Given the description of an element on the screen output the (x, y) to click on. 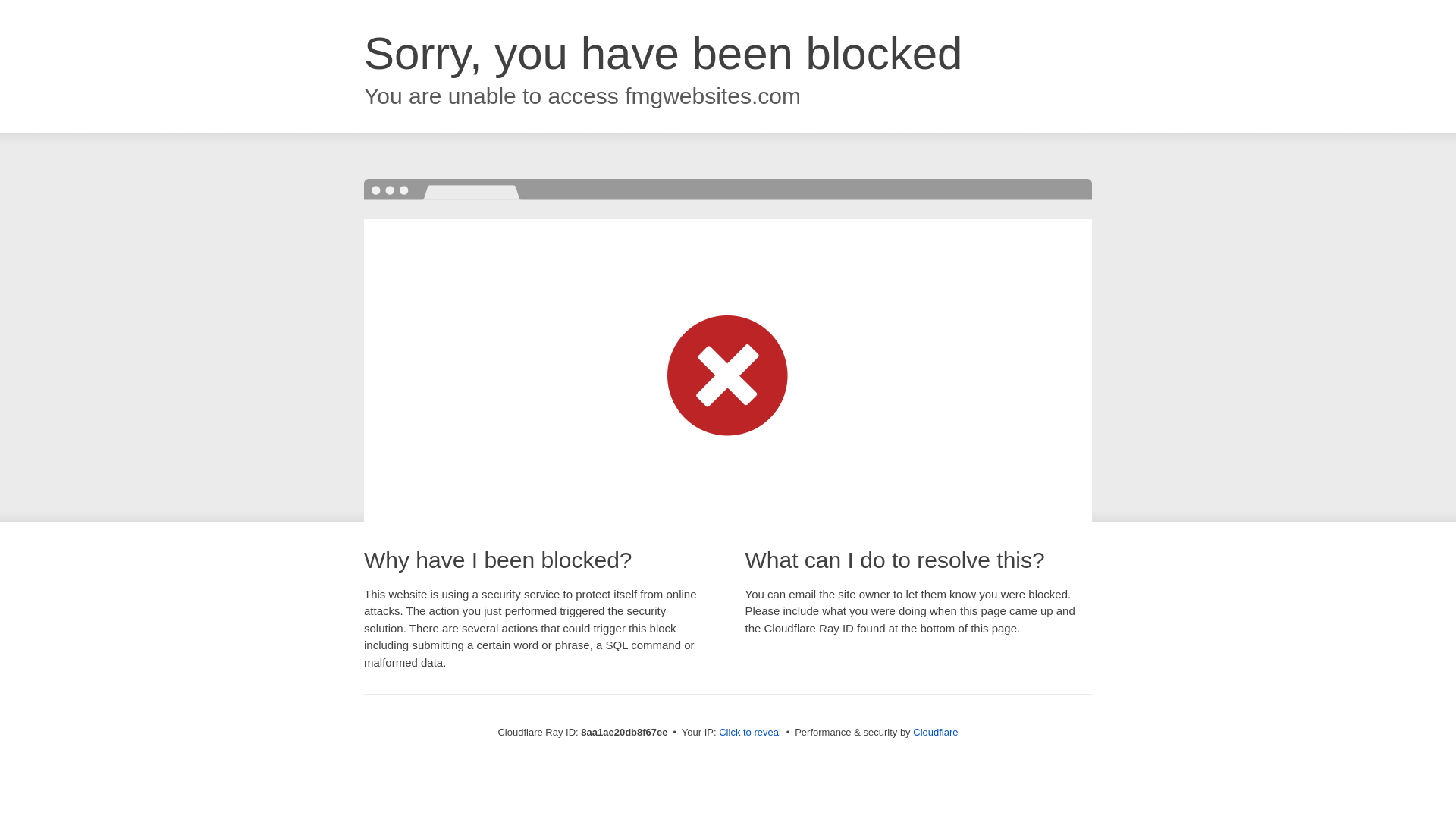
Click to reveal (749, 732)
Cloudflare (935, 731)
